Given the description of an element on the screen output the (x, y) to click on. 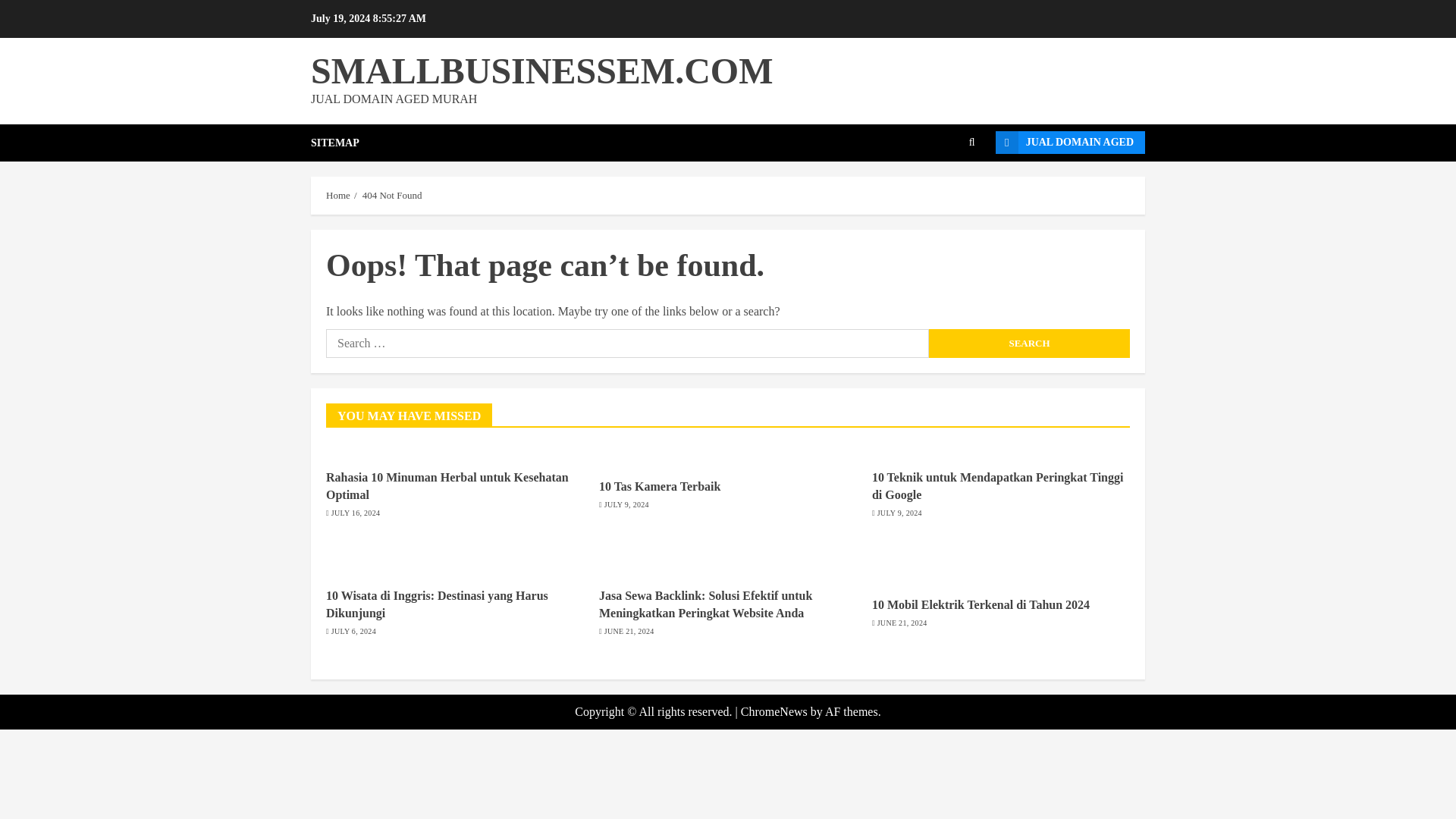
Search (1028, 343)
Search (1028, 343)
10 Wisata di Inggris: Destinasi yang Harus Dikunjungi (437, 603)
Rahasia 10 Minuman Herbal untuk Kesehatan Optimal (447, 485)
SMALLBUSINESSEM.COM (542, 70)
SITEMAP (335, 142)
JULY 6, 2024 (353, 631)
JUAL DOMAIN AGED (1069, 142)
10 Teknik untuk Mendapatkan Peringkat Tinggi di Google (998, 485)
JULY 9, 2024 (626, 504)
JULY 16, 2024 (355, 512)
Search (972, 142)
Search (1028, 343)
JUNE 21, 2024 (902, 623)
